Given the description of an element on the screen output the (x, y) to click on. 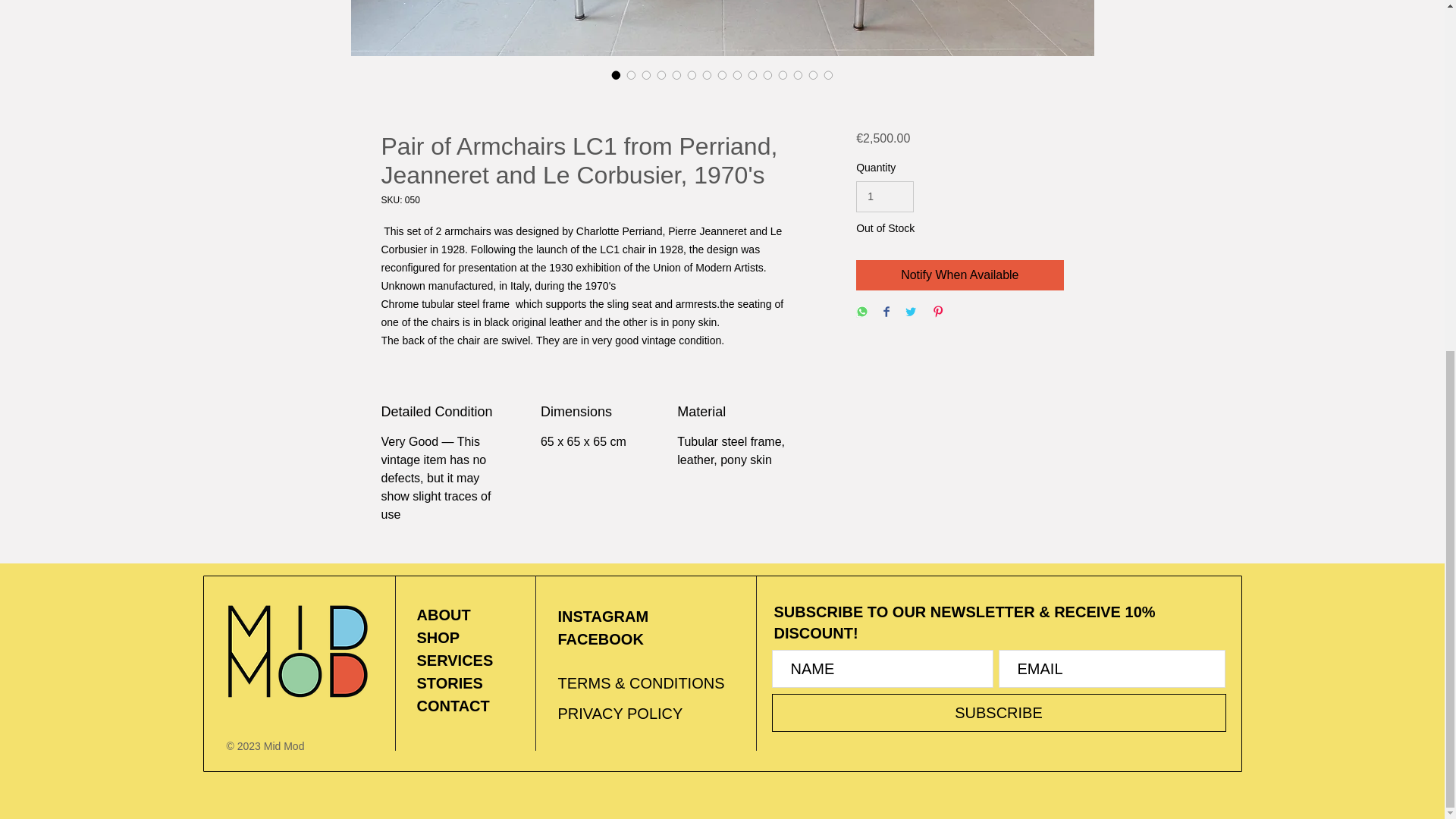
Notify When Available (959, 275)
1 (885, 196)
